Given the description of an element on the screen output the (x, y) to click on. 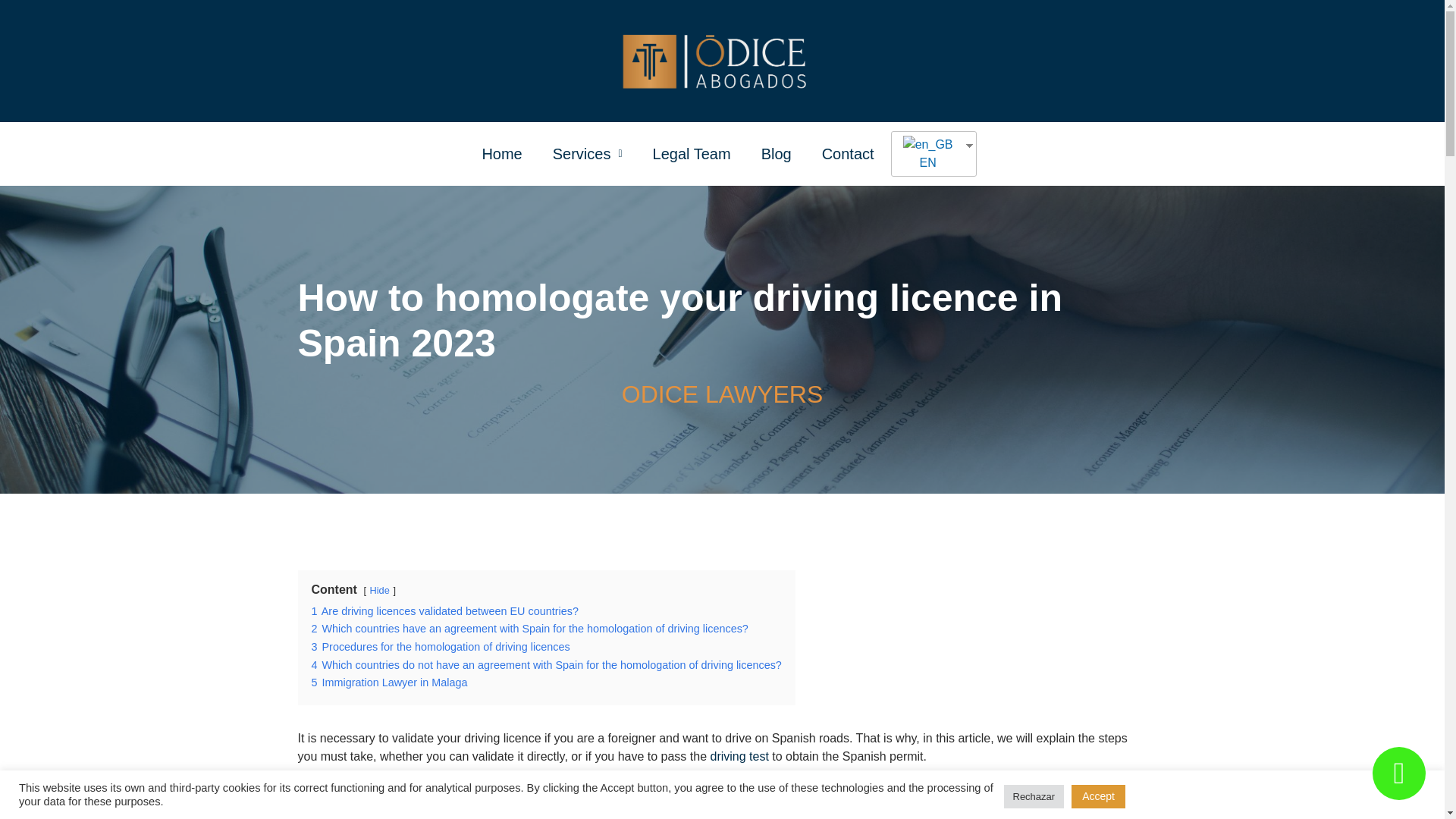
5 Immigration Lawyer in Malaga (389, 682)
Legal Team (691, 153)
Home (501, 153)
driving test (739, 756)
Hide (379, 590)
3 Procedures for the homologation of driving licences (440, 646)
Services (587, 153)
Contact (847, 153)
1 Are driving licences validated between EU countries? (444, 611)
EN (927, 153)
Blog (775, 153)
